Given the description of an element on the screen output the (x, y) to click on. 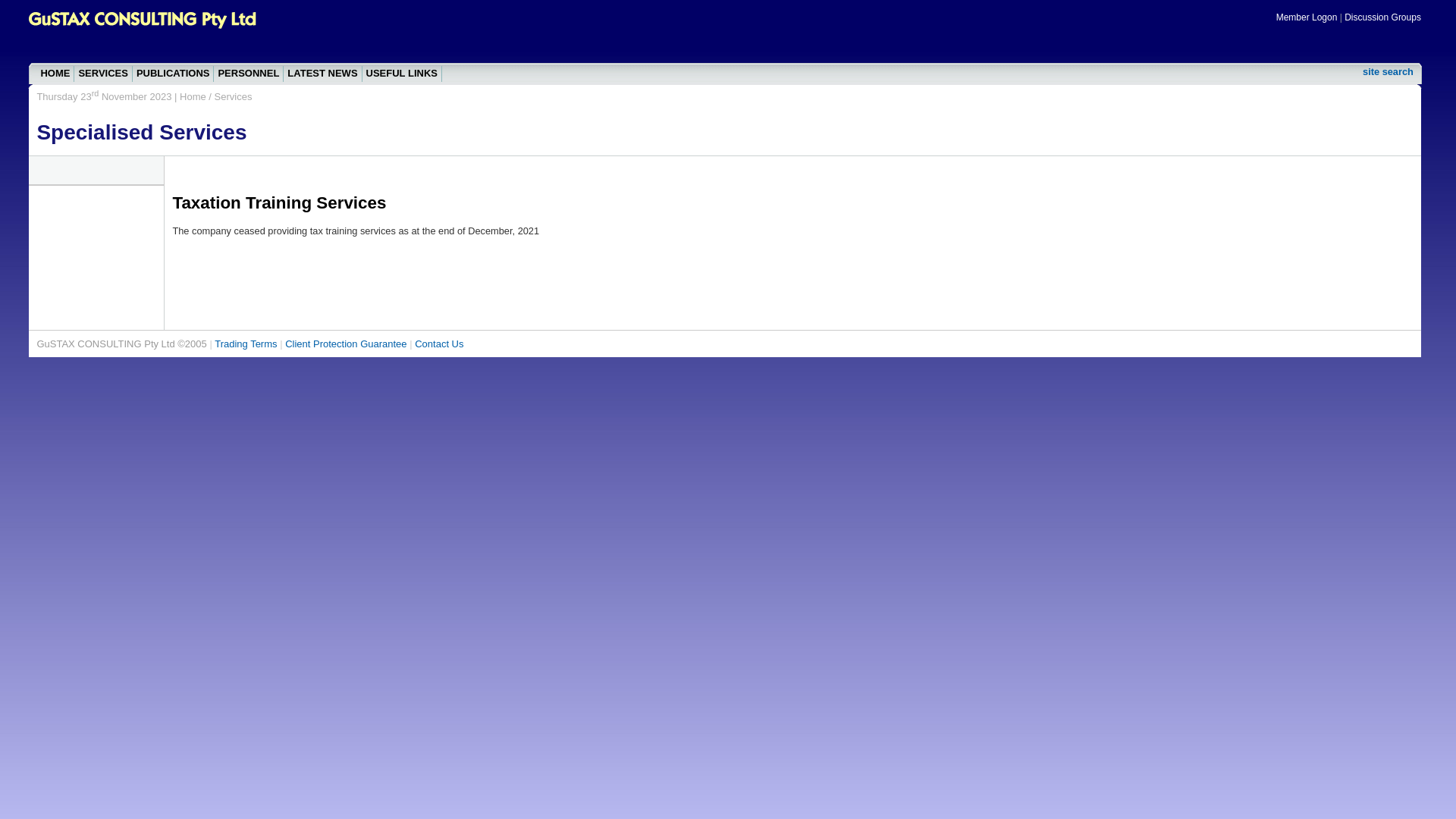
Client Protection Guarantee Element type: text (347, 343)
LATEST NEWS Element type: text (322, 73)
USEFUL LINKS Element type: text (402, 73)
Home Element type: text (192, 96)
site search Element type: text (1387, 71)
Member Logon Element type: text (1306, 17)
Services Element type: text (233, 96)
Discussion Groups Element type: text (1382, 17)
Contact Us Element type: text (438, 343)
PUBLICATIONS Element type: text (173, 73)
HOME Element type: text (55, 73)
PERSONNEL Element type: text (248, 73)
SERVICES Element type: text (103, 73)
Trading Terms Element type: text (246, 343)
